Given the description of an element on the screen output the (x, y) to click on. 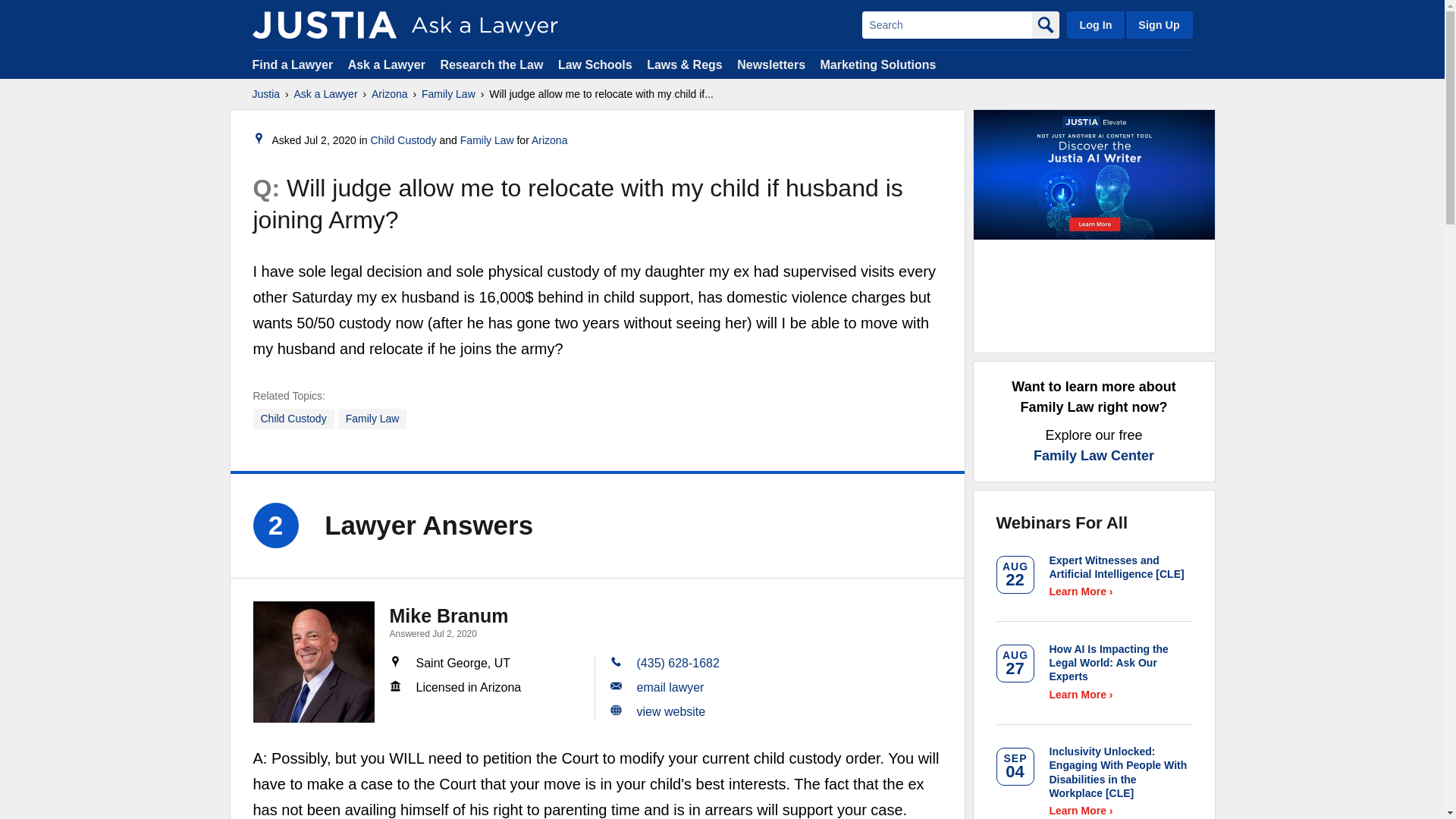
Justia (323, 24)
Child Custody (402, 140)
Justia (265, 93)
Find a Lawyer (292, 64)
Newsletters (770, 64)
email lawyer (670, 686)
Mike Branum (449, 615)
Ask a Lawyer (326, 93)
Log In (1094, 24)
Family Law (372, 418)
